Given the description of an element on the screen output the (x, y) to click on. 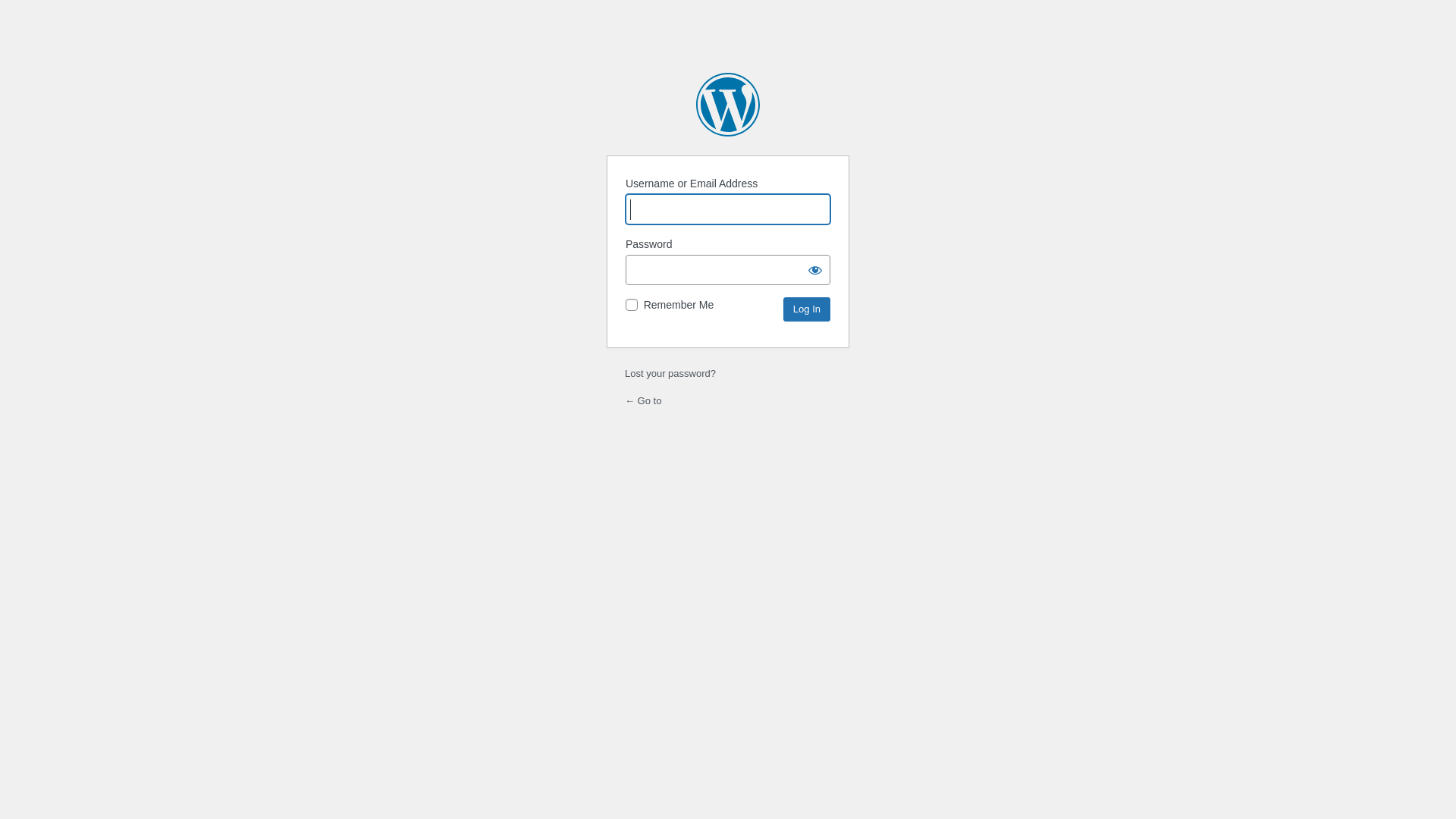
Powered by WordPress Element type: text (727, 104)
Lost your password? Element type: text (669, 373)
Log In Element type: text (806, 309)
